Given the description of an element on the screen output the (x, y) to click on. 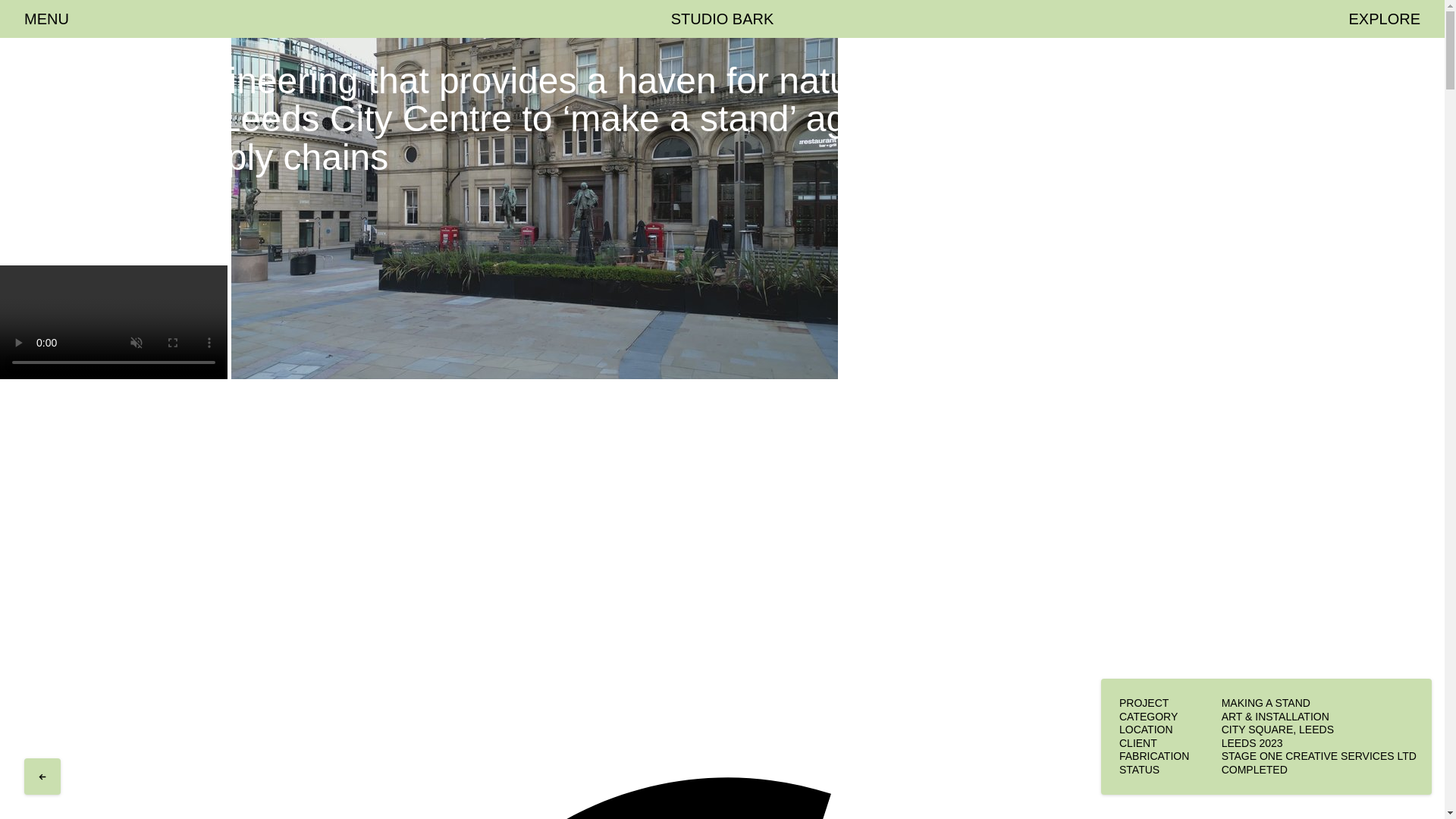
STUDIO BARK (722, 18)
EXPLORE (1383, 18)
Back (42, 773)
MENU (46, 18)
